Given the description of an element on the screen output the (x, y) to click on. 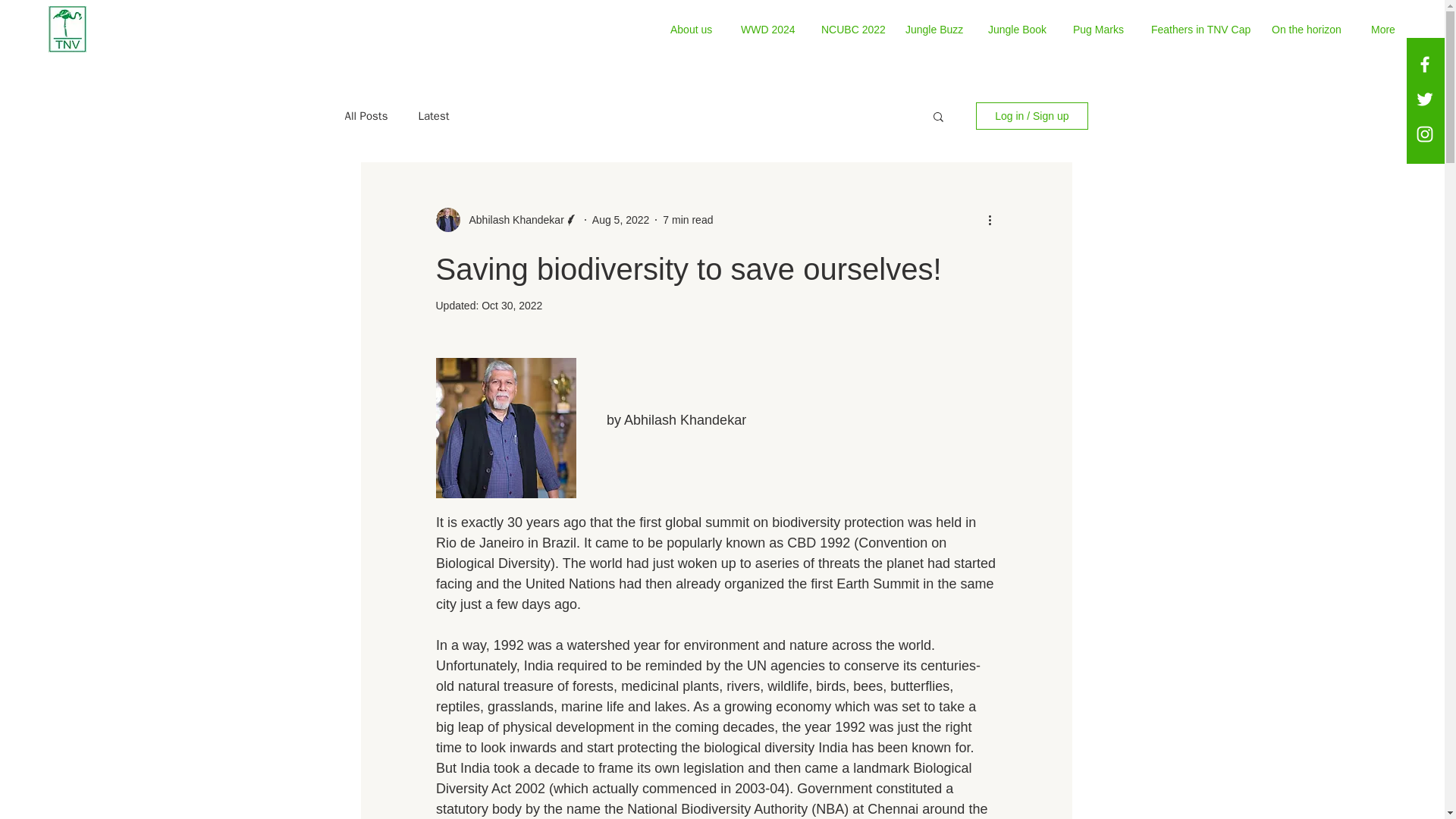
Feathers in TNV Cap (1200, 29)
Latest (432, 115)
About us (694, 29)
Abhilash Khandekar (511, 220)
7 min read (687, 219)
Aug 5, 2022 (620, 219)
Jungle Book (1018, 29)
WWD 2024 (769, 29)
All Posts (365, 115)
Oct 30, 2022 (511, 305)
